Given the description of an element on the screen output the (x, y) to click on. 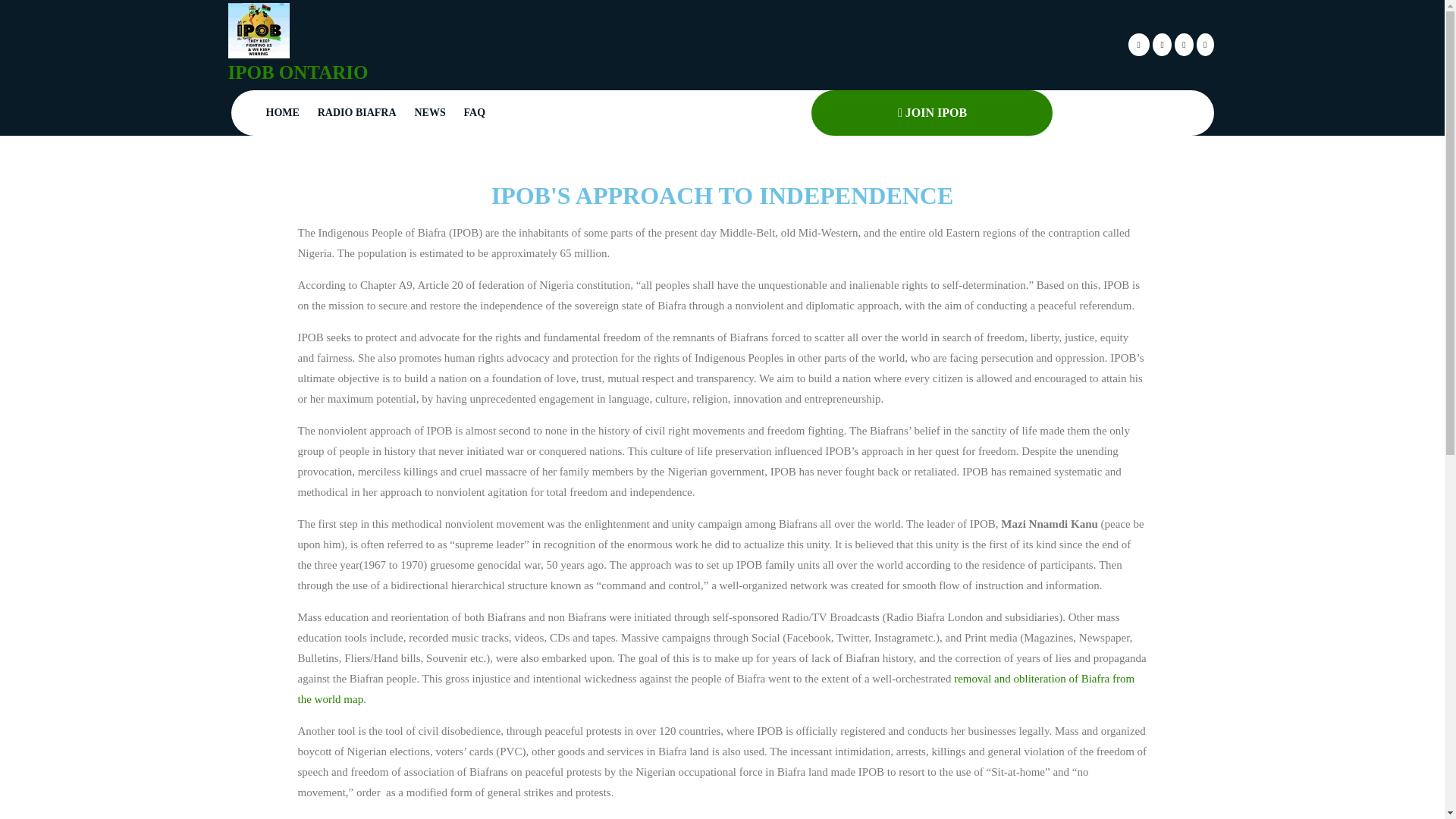
HOME (281, 112)
NEWS (429, 112)
IPOB ONTARIO (297, 72)
RADIO BIAFRA (357, 112)
